Given the description of an element on the screen output the (x, y) to click on. 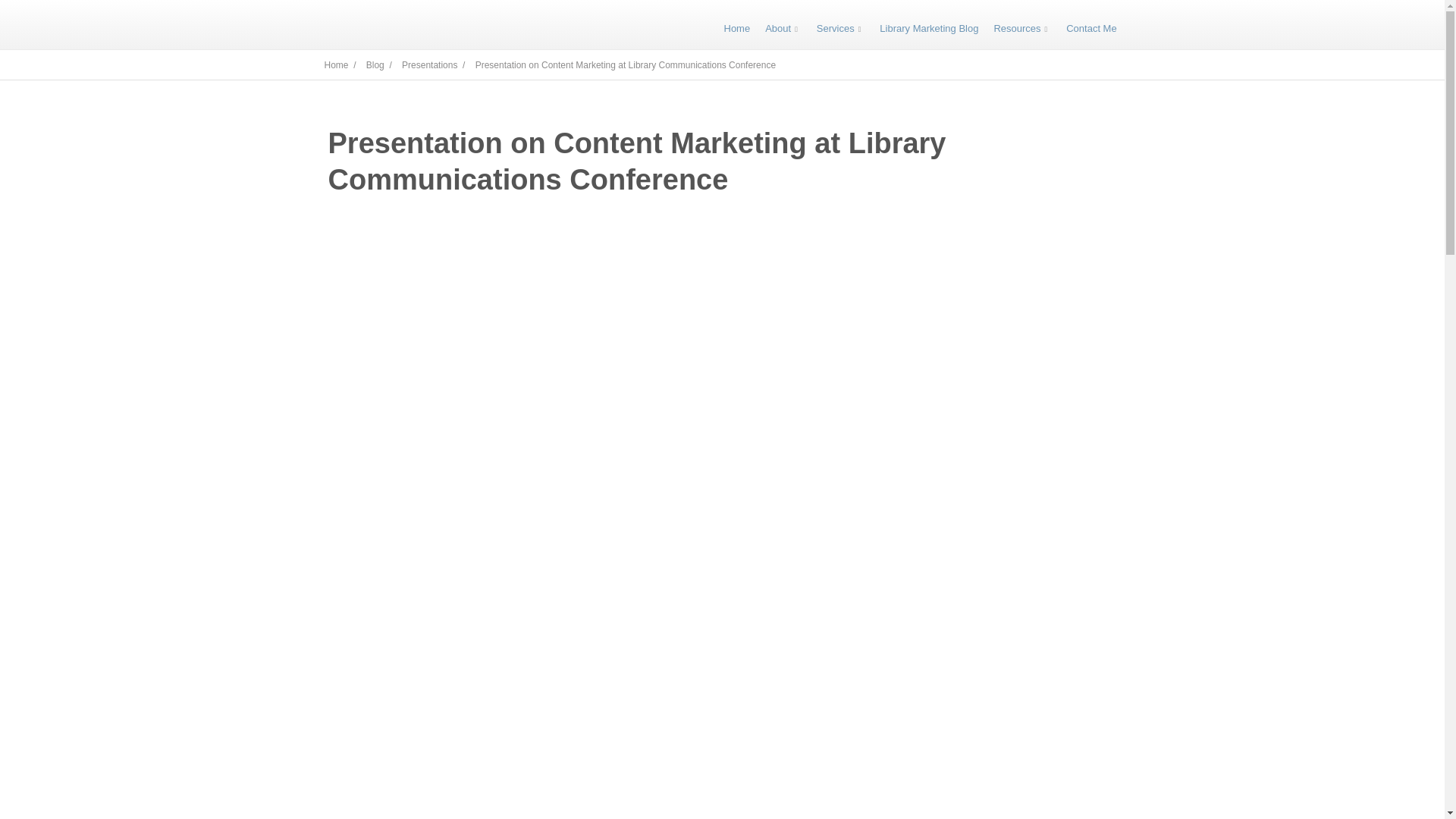
Home (736, 28)
Services (840, 28)
Resources (1021, 28)
About (783, 28)
Library Marketing Blog (928, 28)
Contact Me (1090, 28)
